Given the description of an element on the screen output the (x, y) to click on. 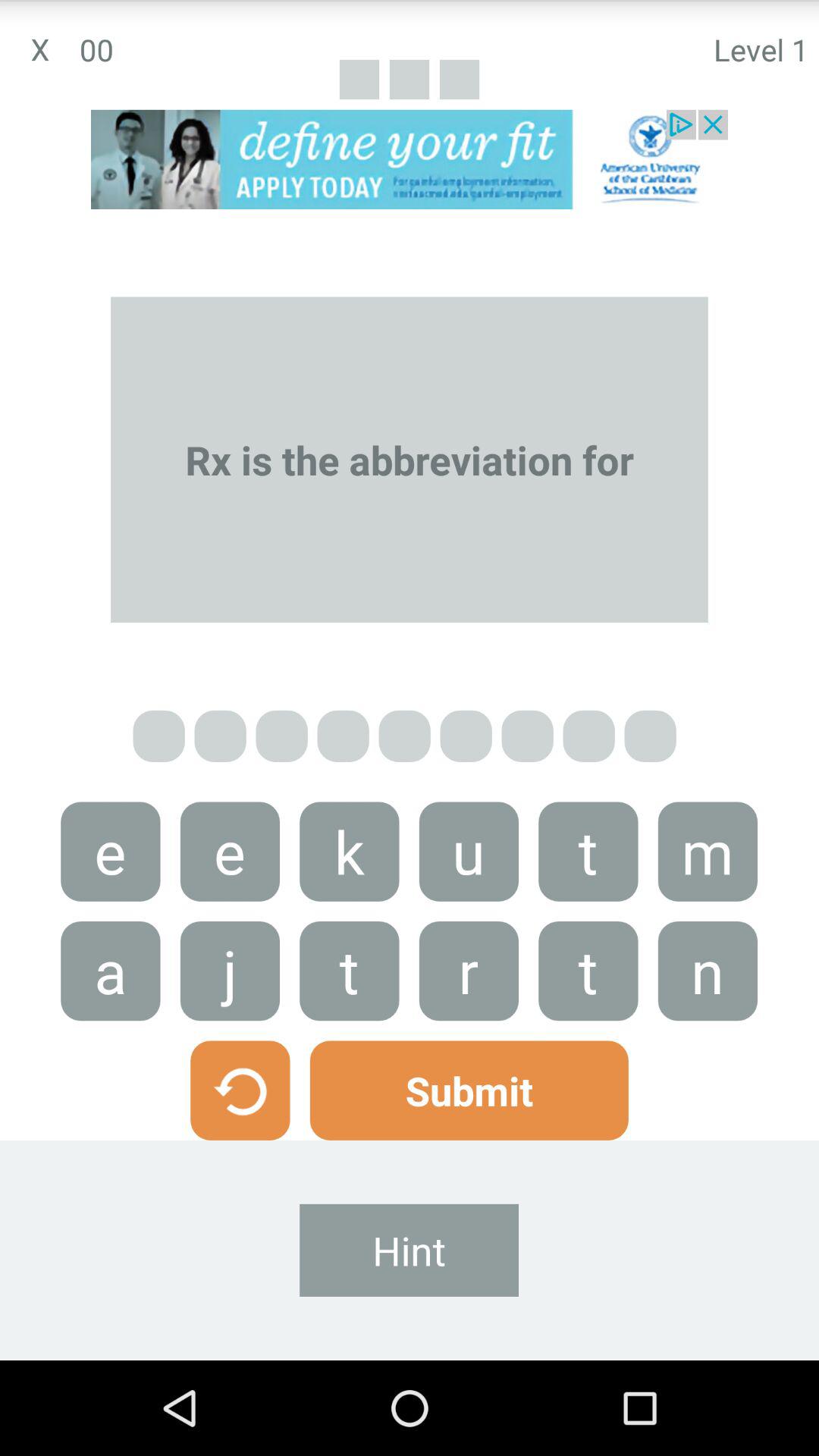
go back (240, 1090)
